Given the description of an element on the screen output the (x, y) to click on. 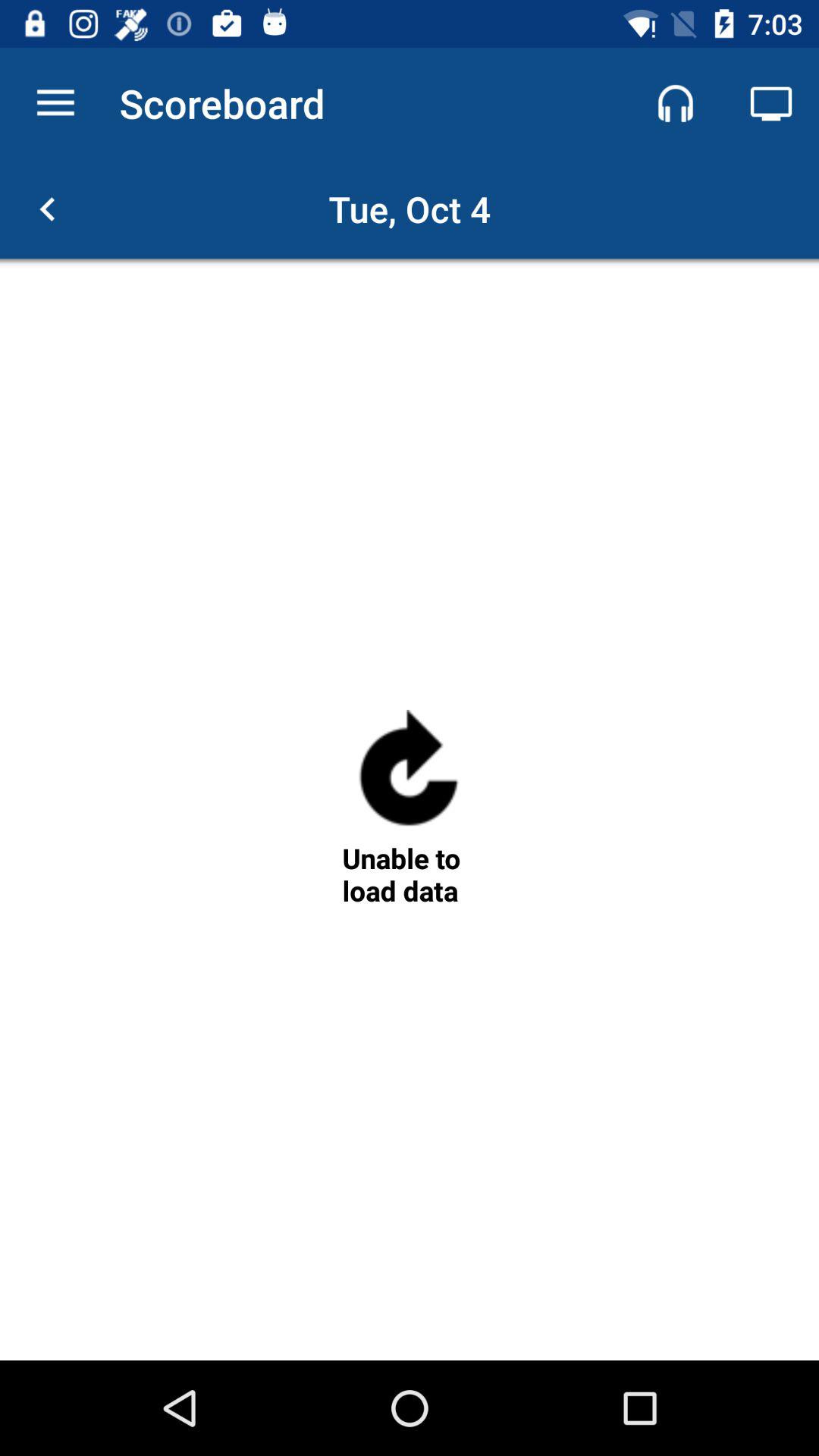
turn on the icon to the left of the scoreboard app (55, 103)
